Given the description of an element on the screen output the (x, y) to click on. 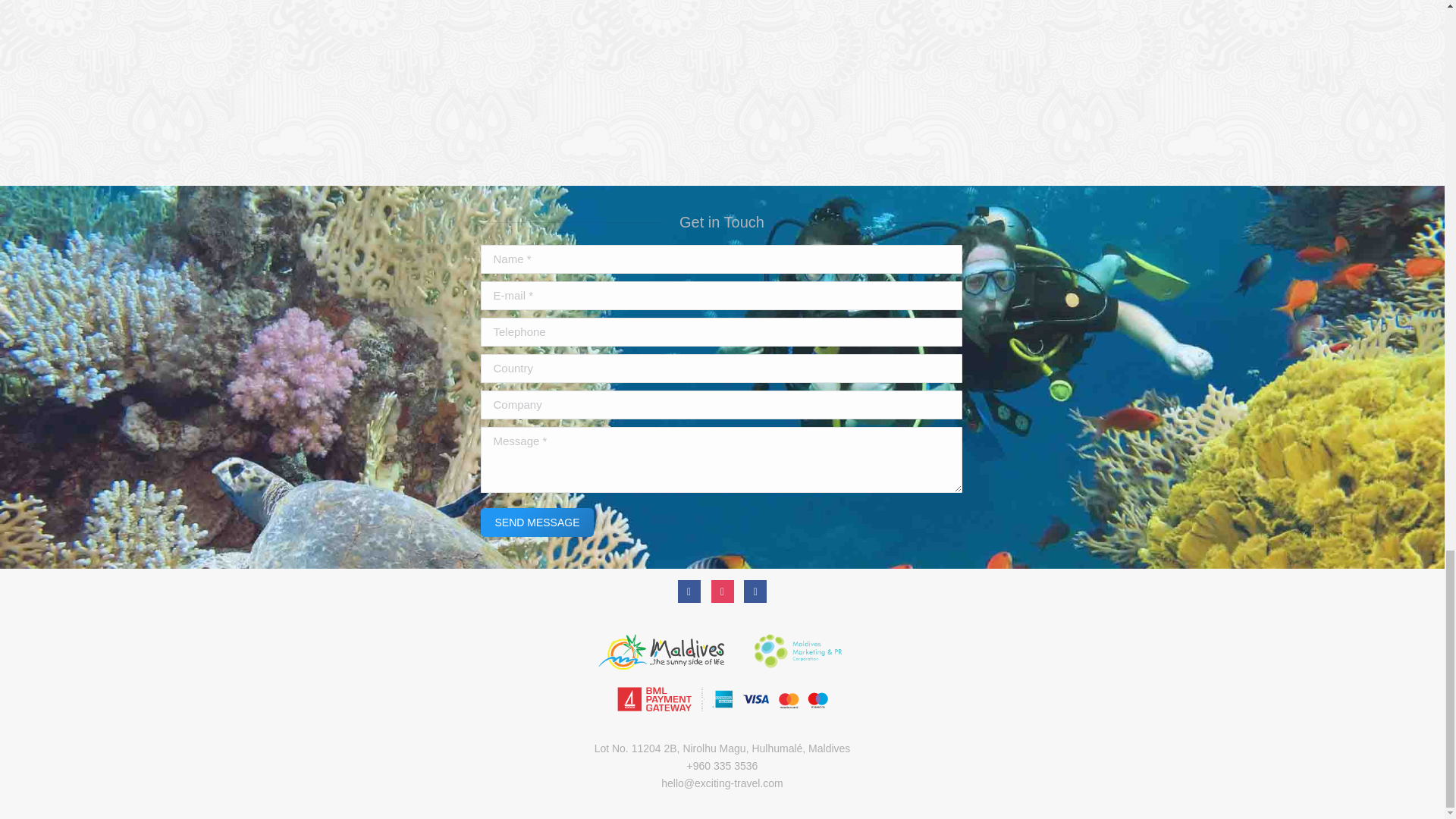
submit (639, 522)
